Given the description of an element on the screen output the (x, y) to click on. 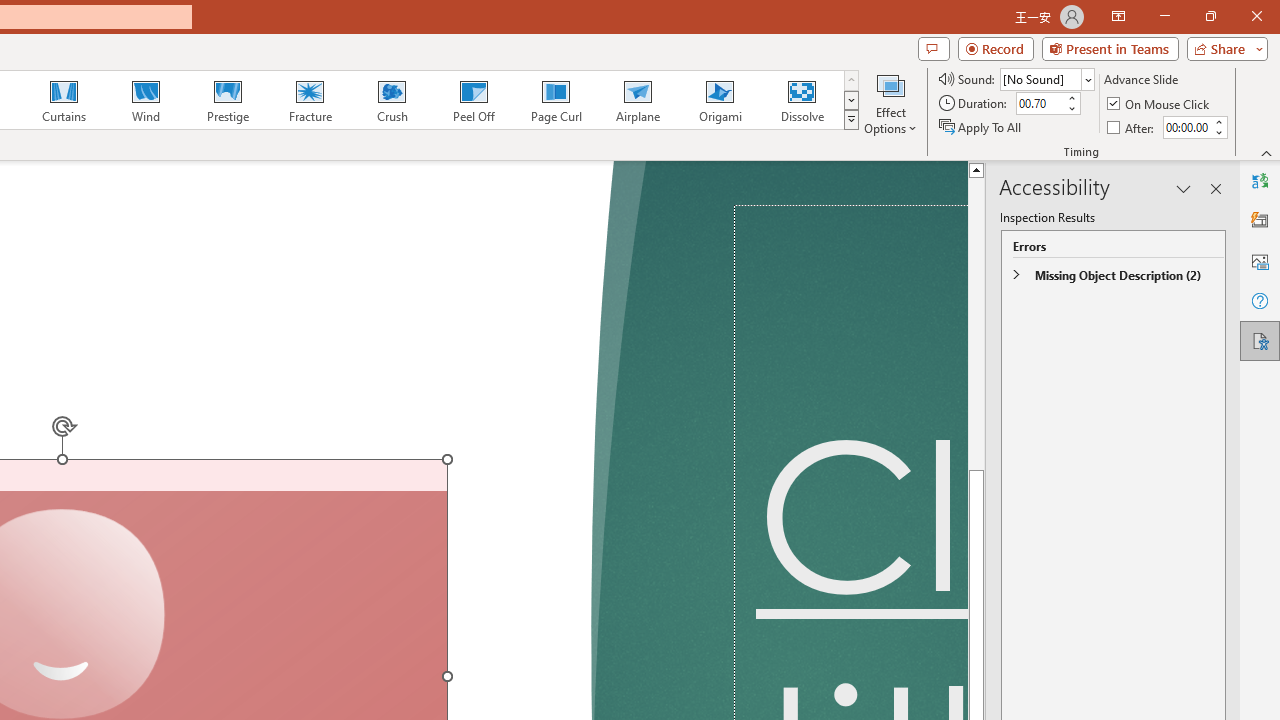
Translator (1260, 180)
Page Curl (555, 100)
Origami (719, 100)
Crush (391, 100)
On Mouse Click (1159, 103)
